Given the description of an element on the screen output the (x, y) to click on. 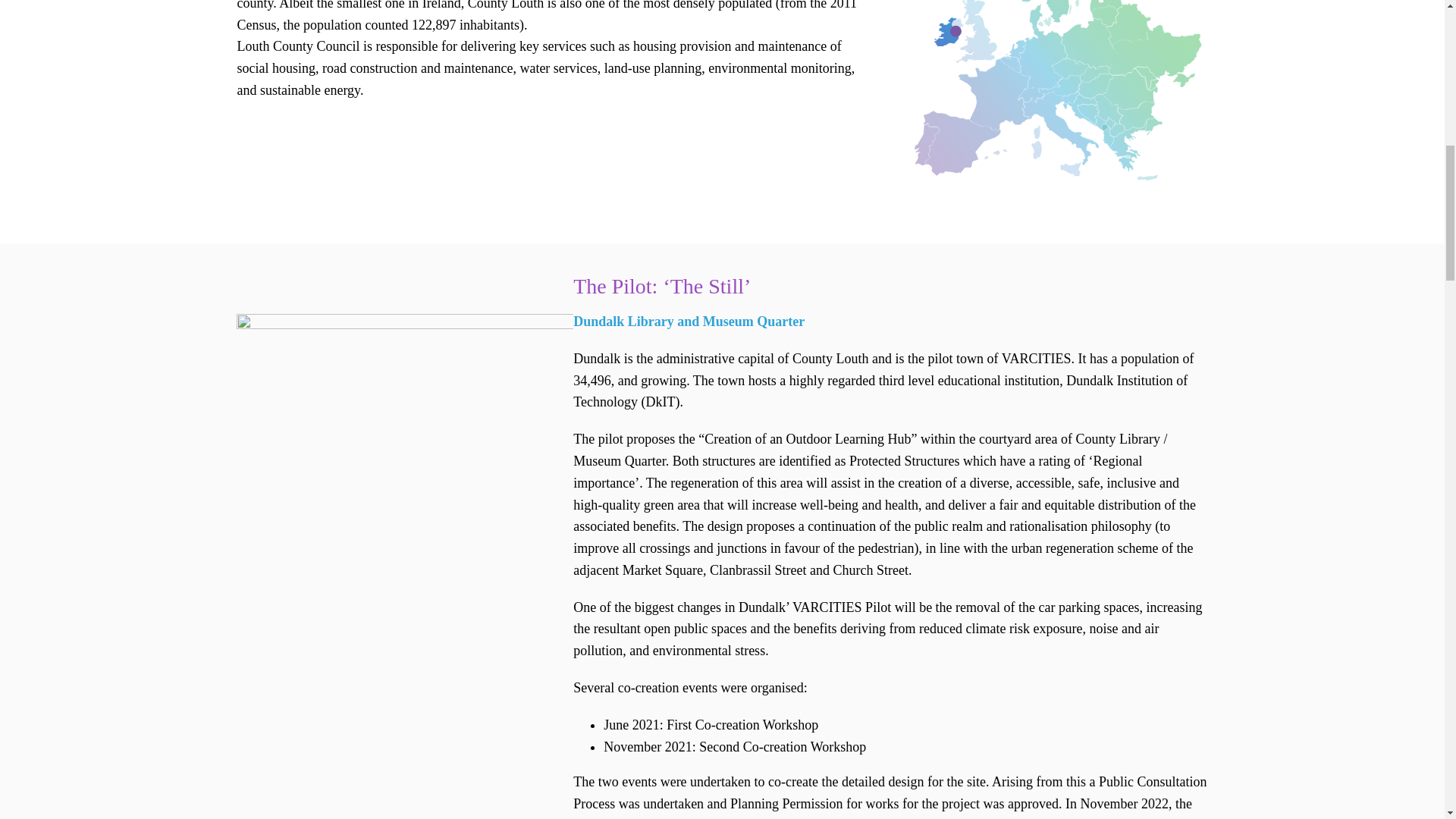
ireland (1059, 102)
